Given the description of an element on the screen output the (x, y) to click on. 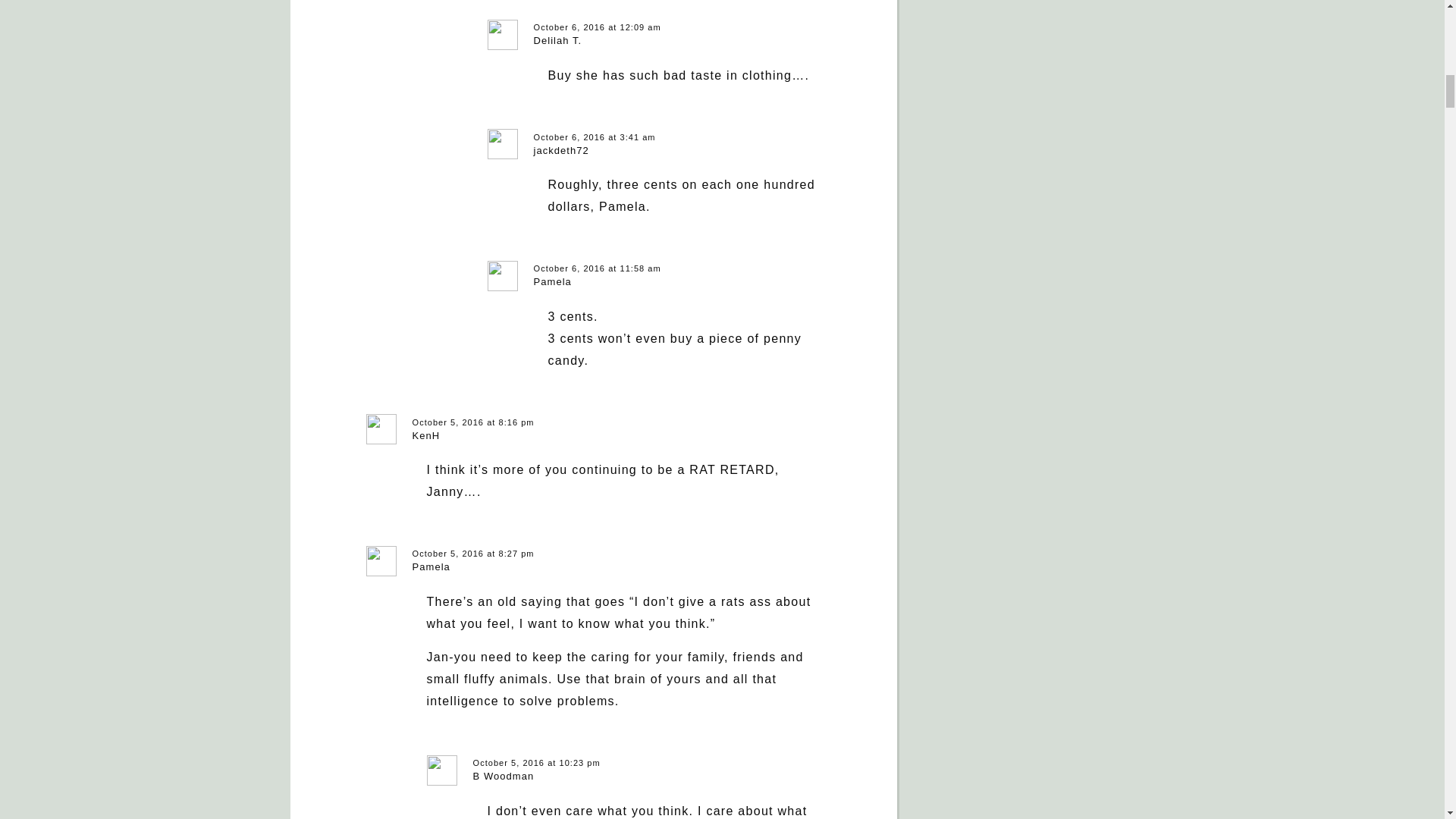
Delilah T. (558, 40)
